Given the description of an element on the screen output the (x, y) to click on. 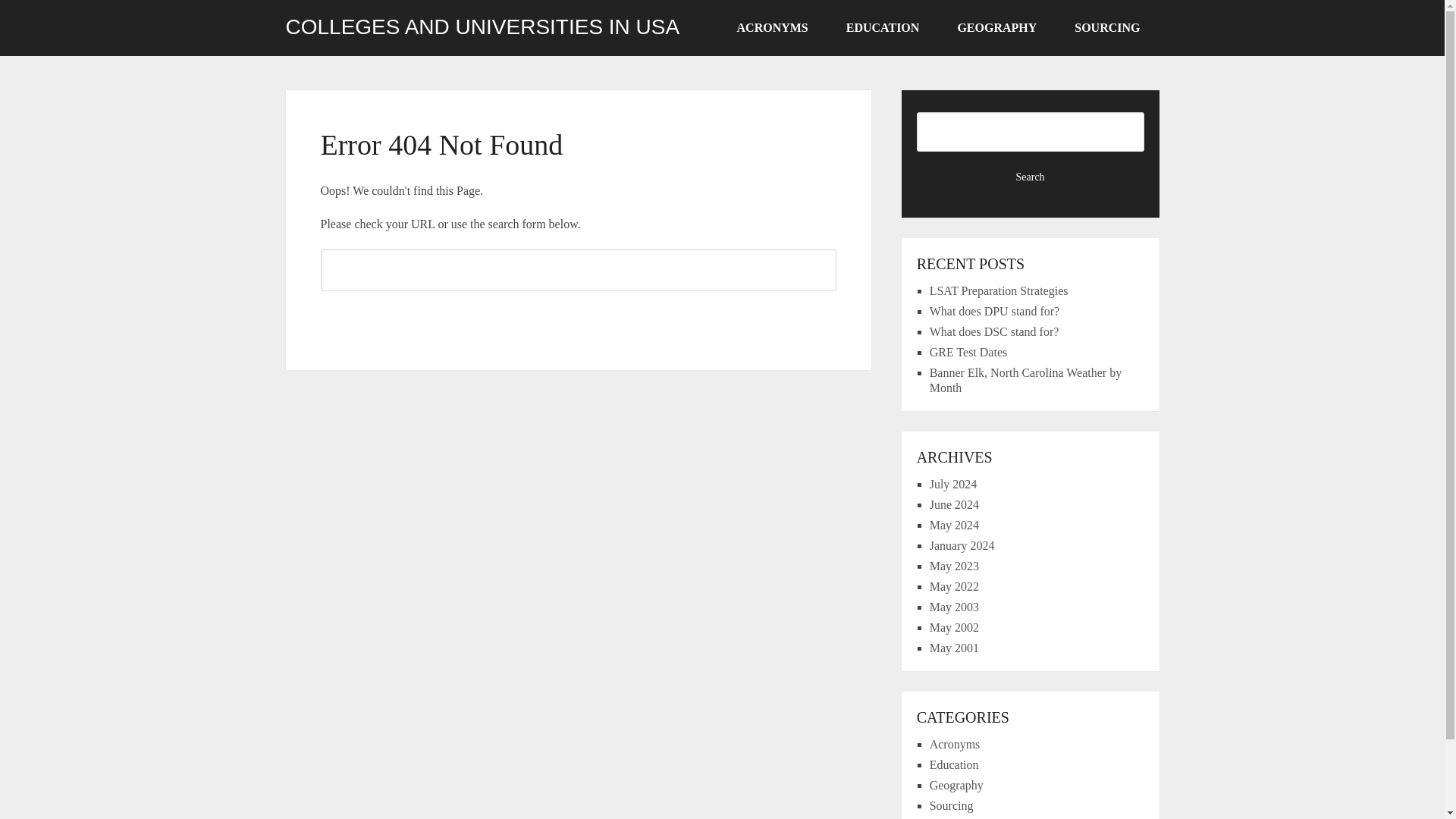
Search (1030, 176)
May 2023 (954, 565)
GRE Test Dates (968, 351)
What does DPU stand for? (994, 310)
May 2024 (954, 524)
Geography (957, 784)
GEOGRAPHY (996, 28)
Search (577, 316)
LSAT Preparation Strategies (999, 290)
What does DSC stand for? (994, 331)
January 2024 (962, 545)
Sourcing (952, 805)
May 2003 (954, 606)
May 2002 (954, 626)
SOURCING (1106, 28)
